Given the description of an element on the screen output the (x, y) to click on. 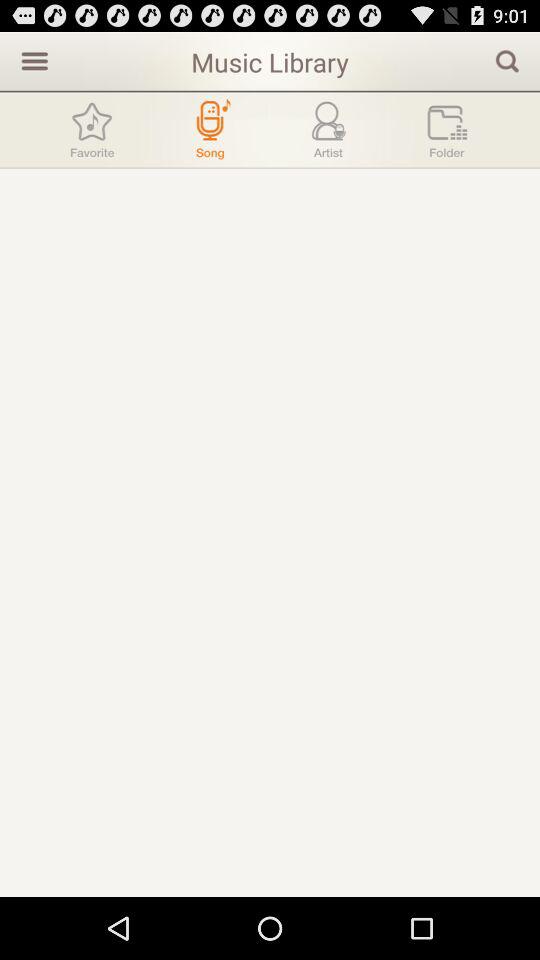
my favorite music (92, 129)
